Given the description of an element on the screen output the (x, y) to click on. 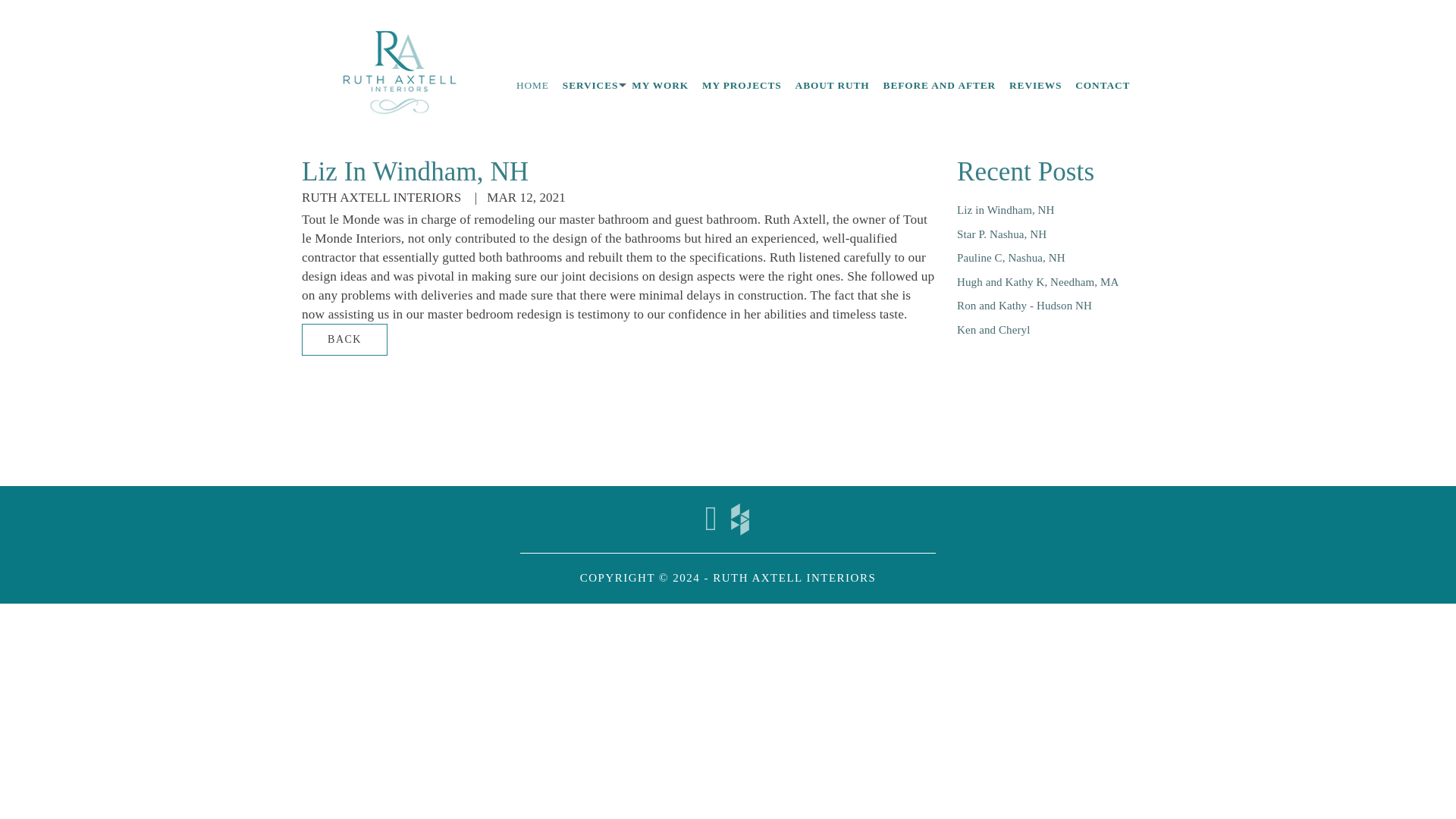
Liz in Windham, NH (1005, 209)
MY WORK (659, 85)
REVIEWS (1035, 85)
HOME (532, 85)
Hugh and Kathy K, Needham, MA (1037, 282)
RUTH AXTELL INTERIORS (794, 577)
Star P. Nashua, NH (1001, 234)
MY PROJECTS (742, 85)
BEFORE AND AFTER (939, 85)
ABOUT RUTH (832, 85)
